Given the description of an element on the screen output the (x, y) to click on. 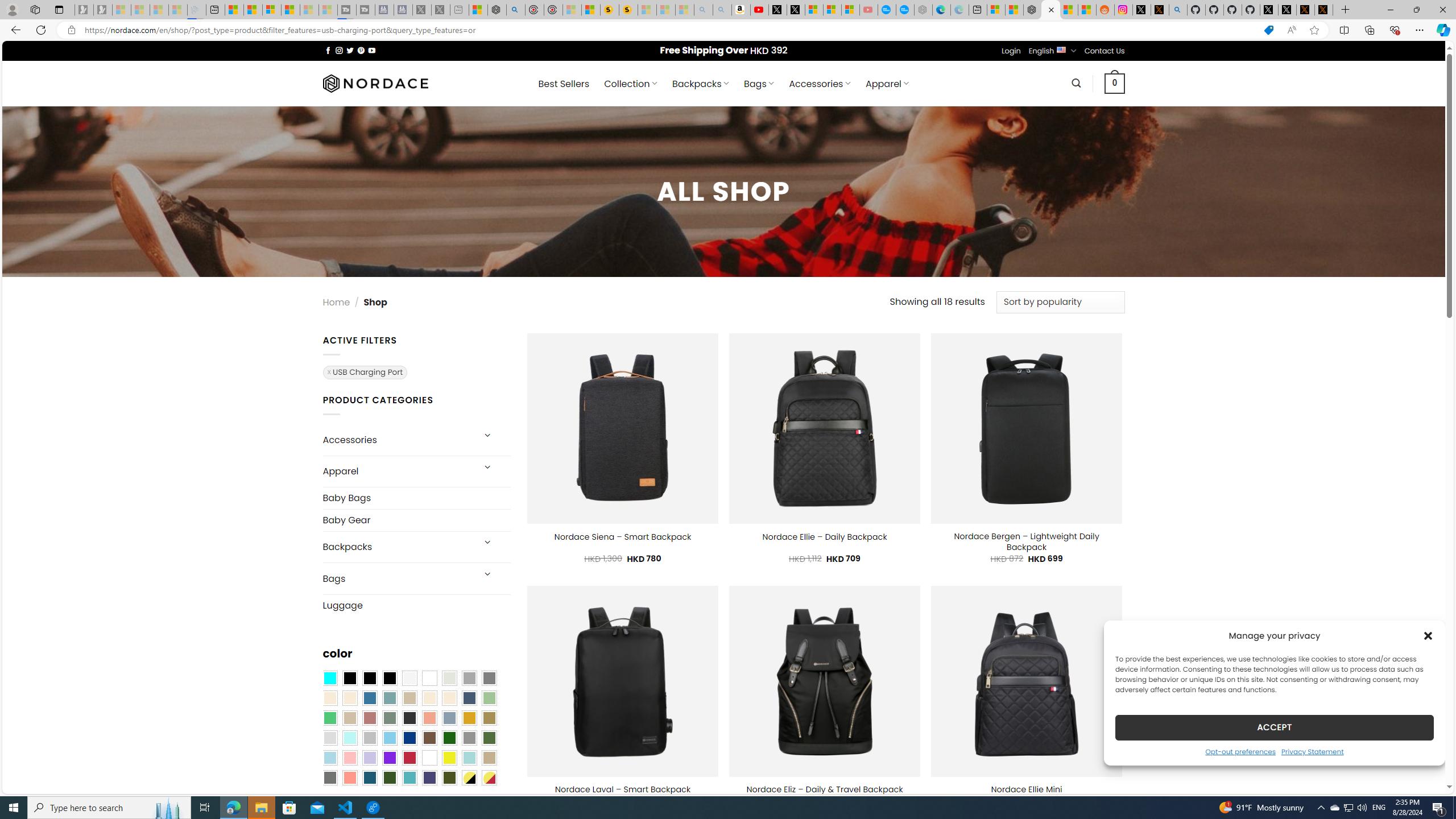
Green (488, 737)
Yellow (449, 758)
Personal Profile (12, 9)
Yellow-Black (468, 777)
English (1061, 49)
Nordace - Products Archive (1050, 9)
X - Sleeping (440, 9)
Nordace (374, 83)
Dull Nickle (329, 777)
